Given the description of an element on the screen output the (x, y) to click on. 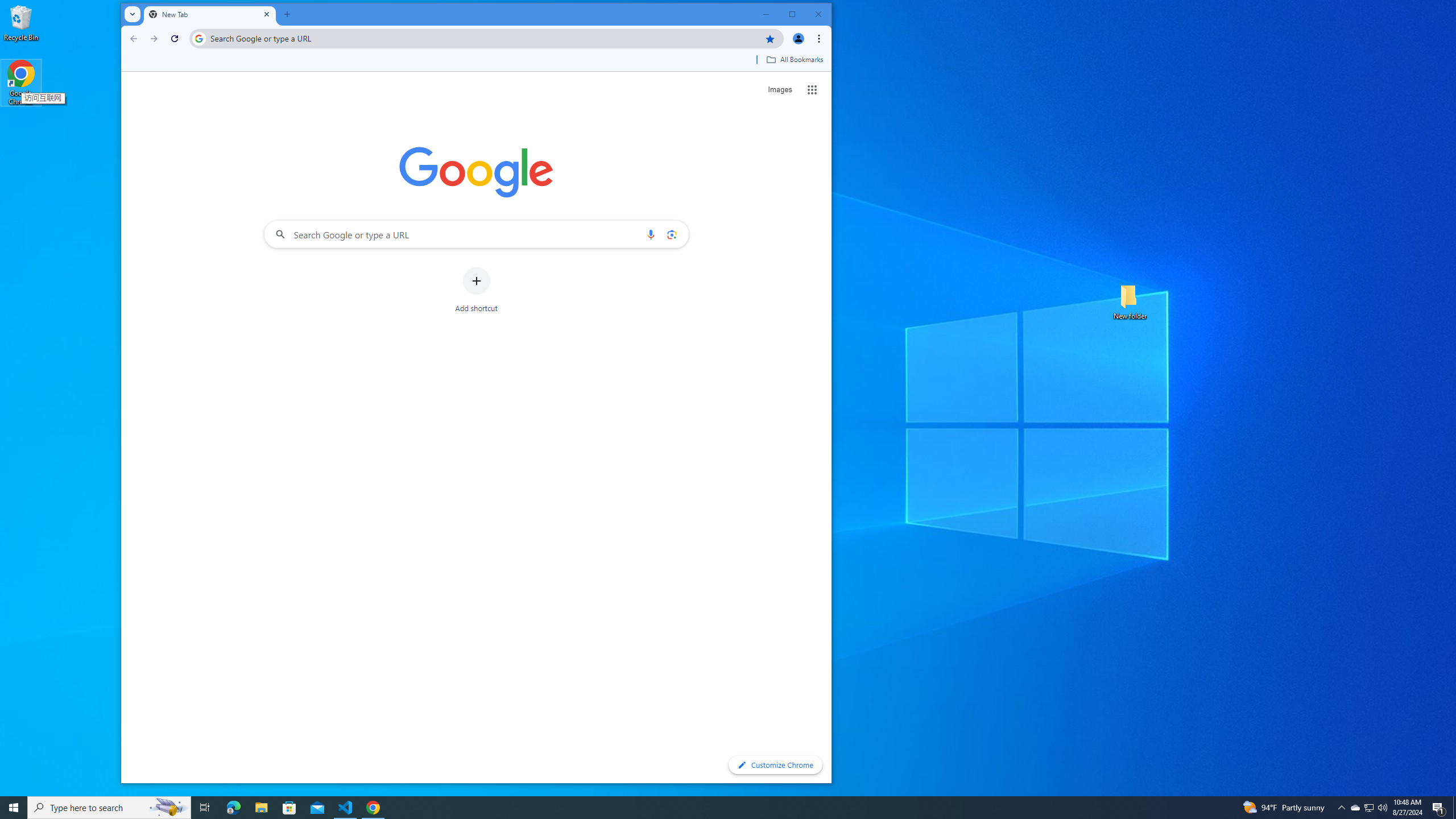
New folder (1130, 301)
Recycle Bin (21, 22)
Google Chrome (21, 82)
